Given the description of an element on the screen output the (x, y) to click on. 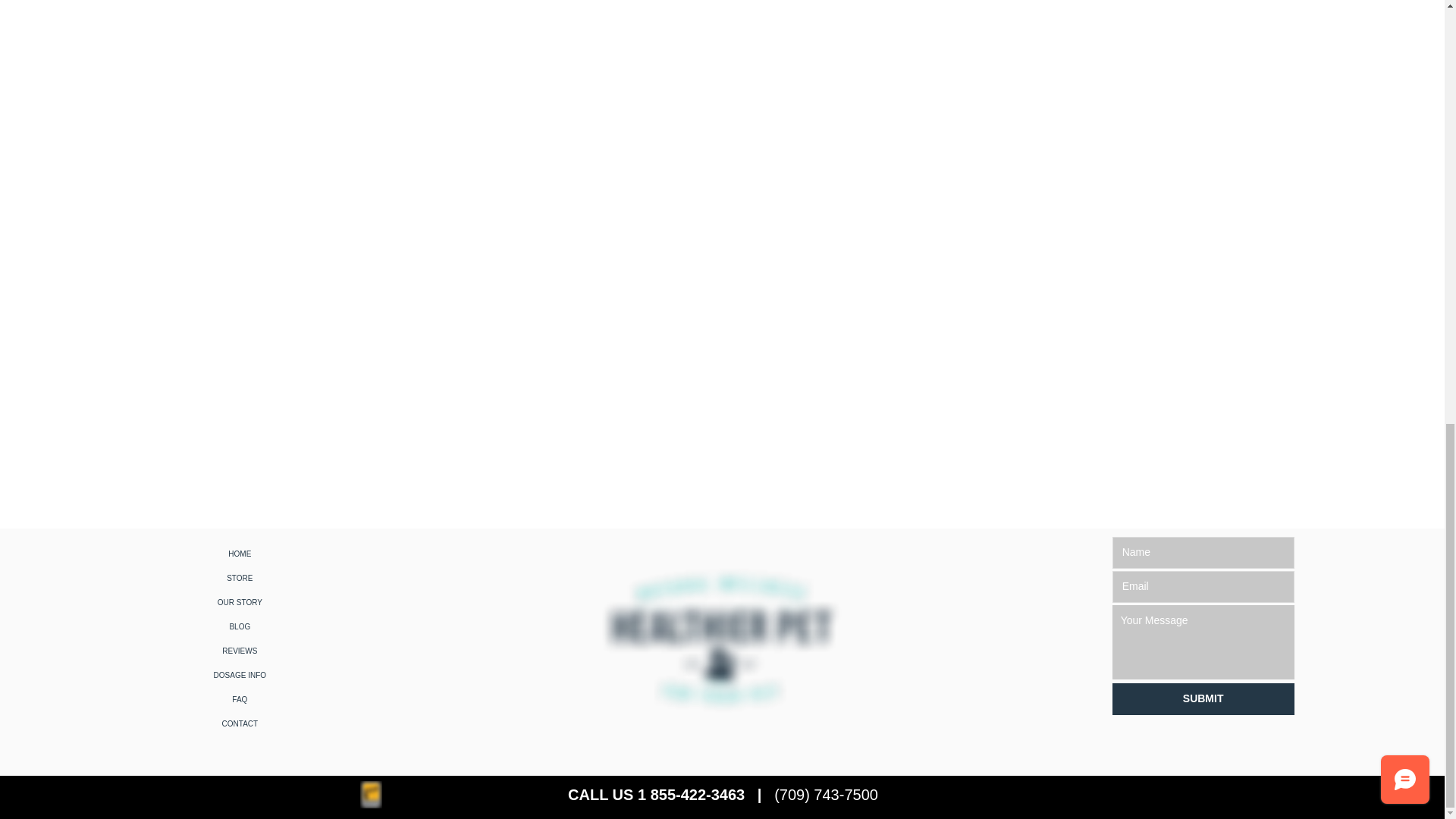
OUR STORY (239, 602)
SUBMIT (1203, 698)
STORE (239, 578)
DOSAGE INFO (239, 675)
FAQ (239, 699)
REVIEWS (239, 651)
HOME (239, 554)
CONTACT (239, 723)
BLOG (239, 627)
